Given the description of an element on the screen output the (x, y) to click on. 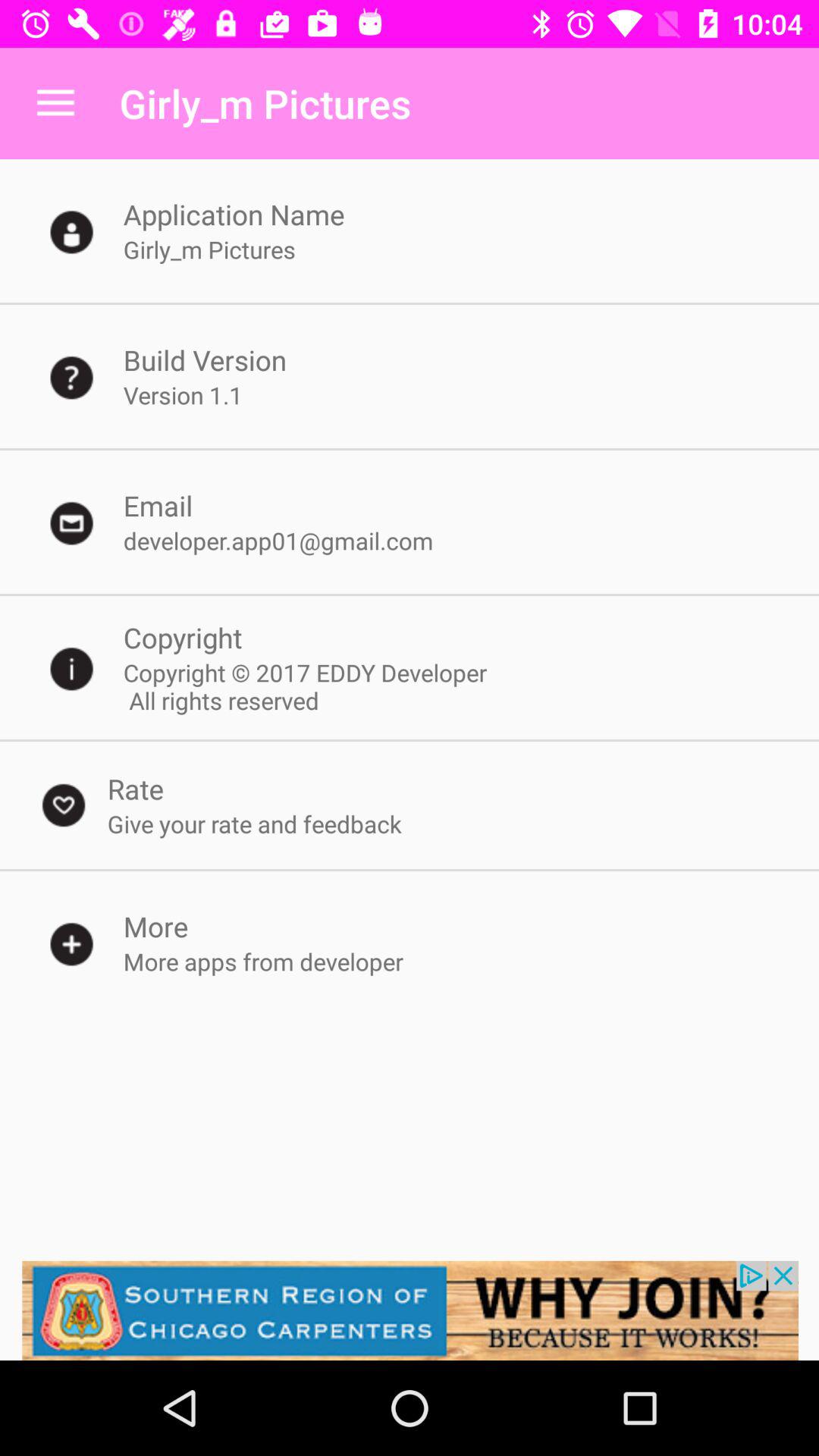
read the advertisement (409, 1310)
